Given the description of an element on the screen output the (x, y) to click on. 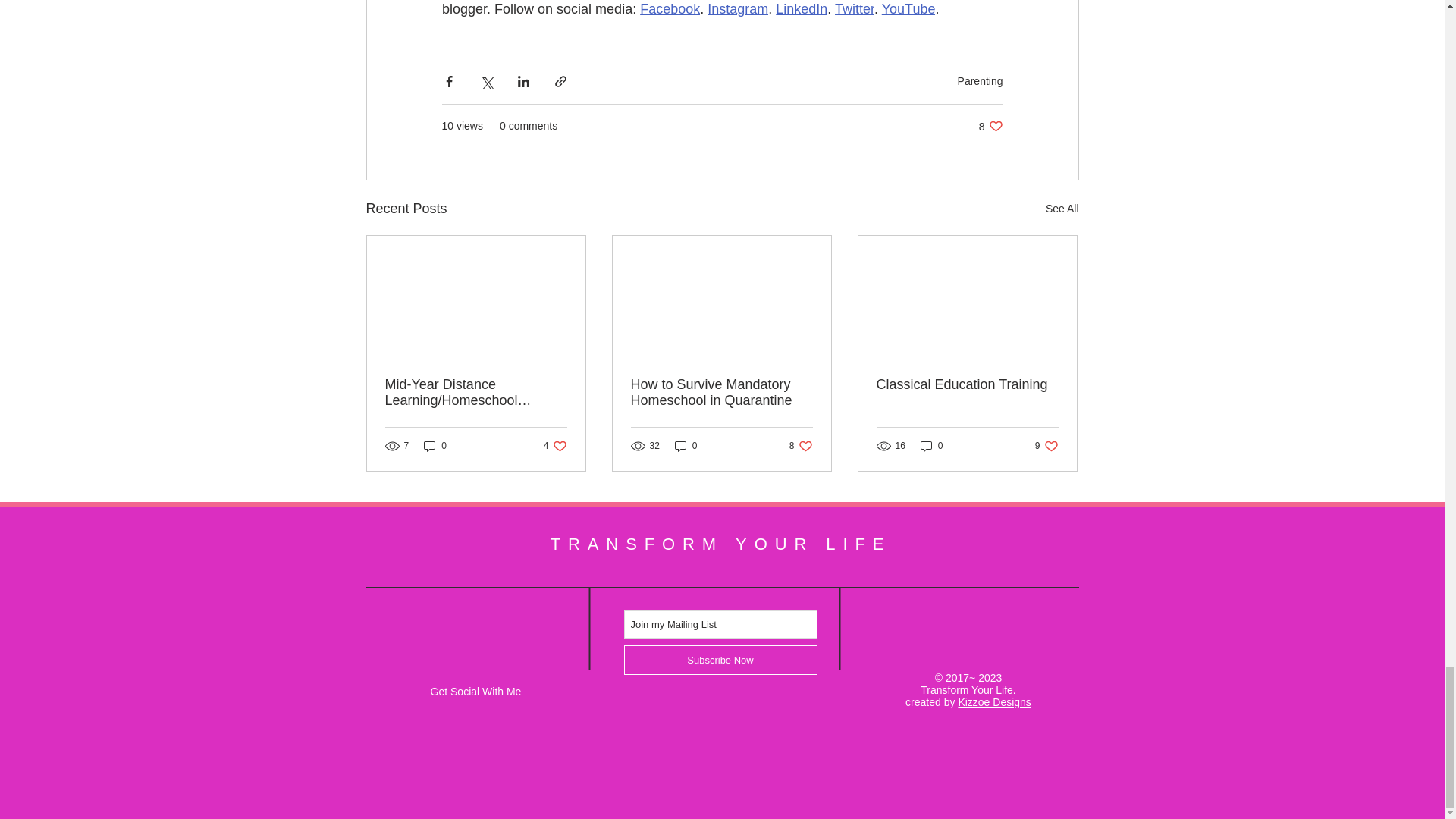
LinkedIn (801, 8)
Facebook (670, 8)
Parenting (980, 80)
YouTube (907, 8)
Twitter (854, 8)
Instagram (990, 125)
